Given the description of an element on the screen output the (x, y) to click on. 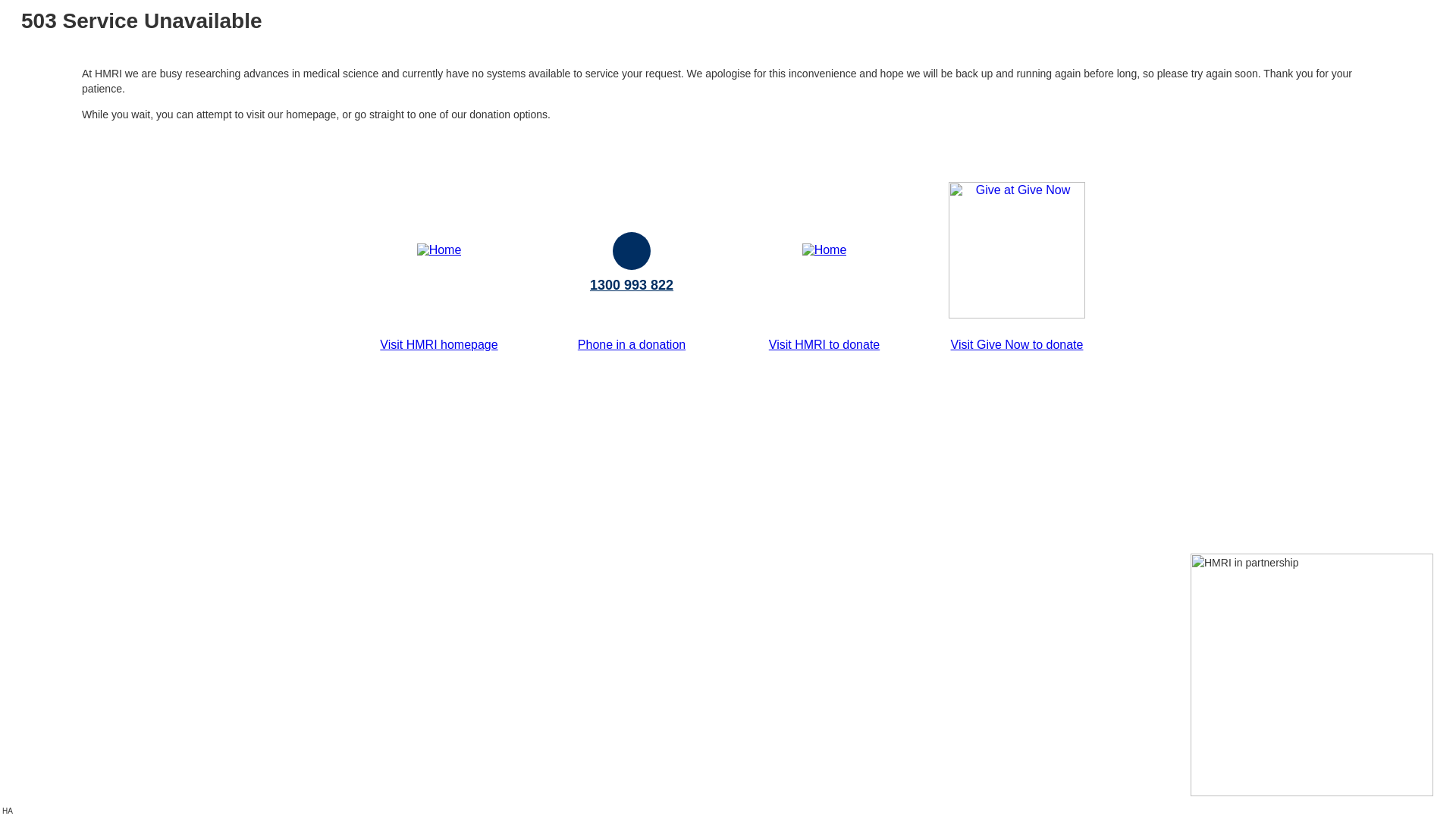
Donate with Give Now Element type: hover (1016, 313)
Visit HMRI to donate Element type: text (823, 344)
Visit Give Now to donate Element type: text (1016, 344)
Home Element type: hover (824, 249)
Visit HMRI homepage Element type: text (438, 344)
Phone in a donation Element type: text (631, 344)
1300 993 822 Element type: text (631, 285)
Home Element type: hover (439, 249)
